Given the description of an element on the screen output the (x, y) to click on. 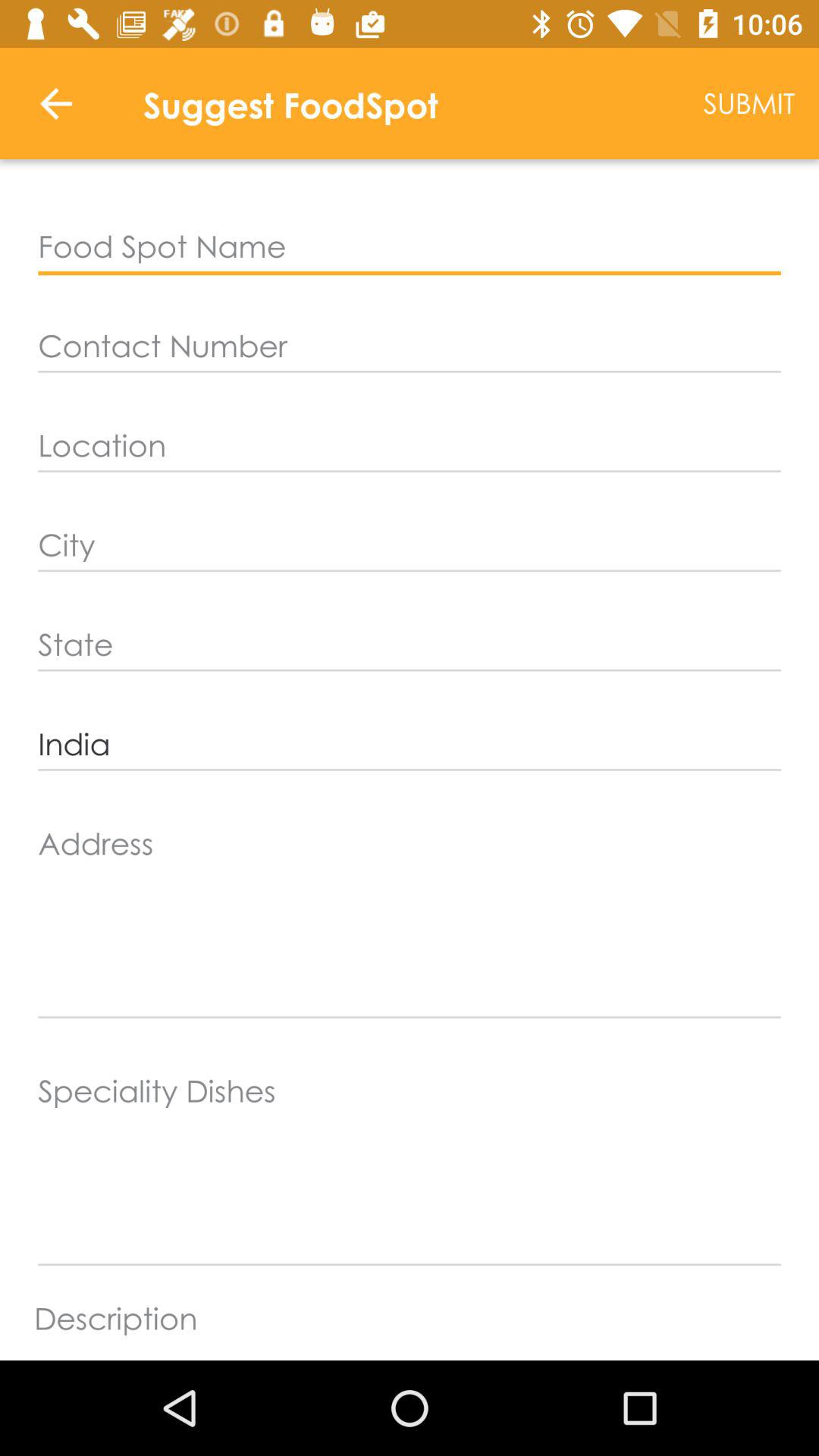
turn on icon at the top left corner (55, 103)
